Given the description of an element on the screen output the (x, y) to click on. 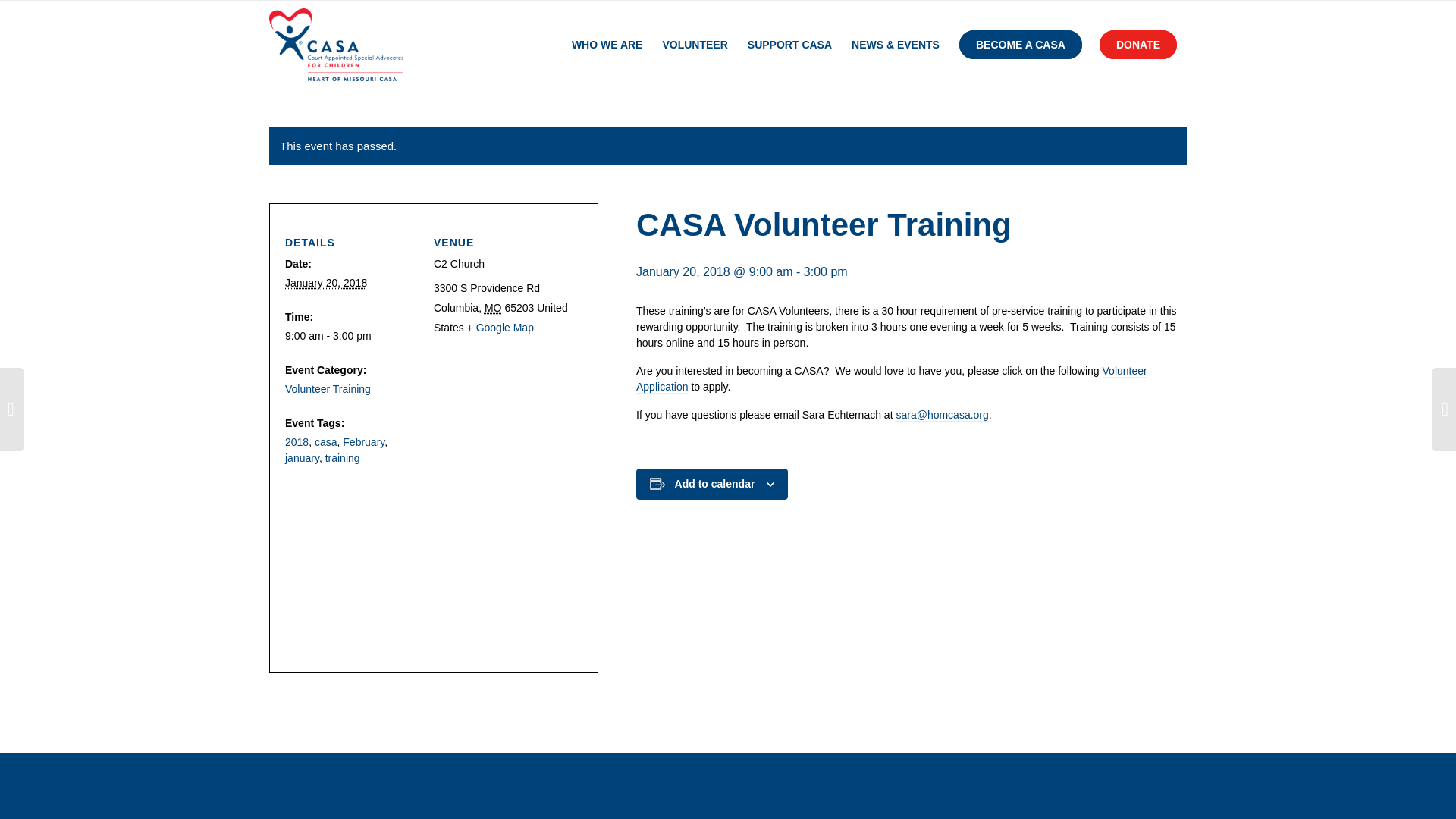
Add to calendar (715, 483)
Volunteer Application (891, 378)
Missouri (493, 307)
SUPPORT CASA (789, 44)
VOLUNTEER (694, 44)
2018-01-20 (325, 282)
2018-01-20 (353, 335)
DONATE (1142, 44)
BECOME A CASA (1020, 44)
Click to view a Google Map (500, 327)
